Given the description of an element on the screen output the (x, y) to click on. 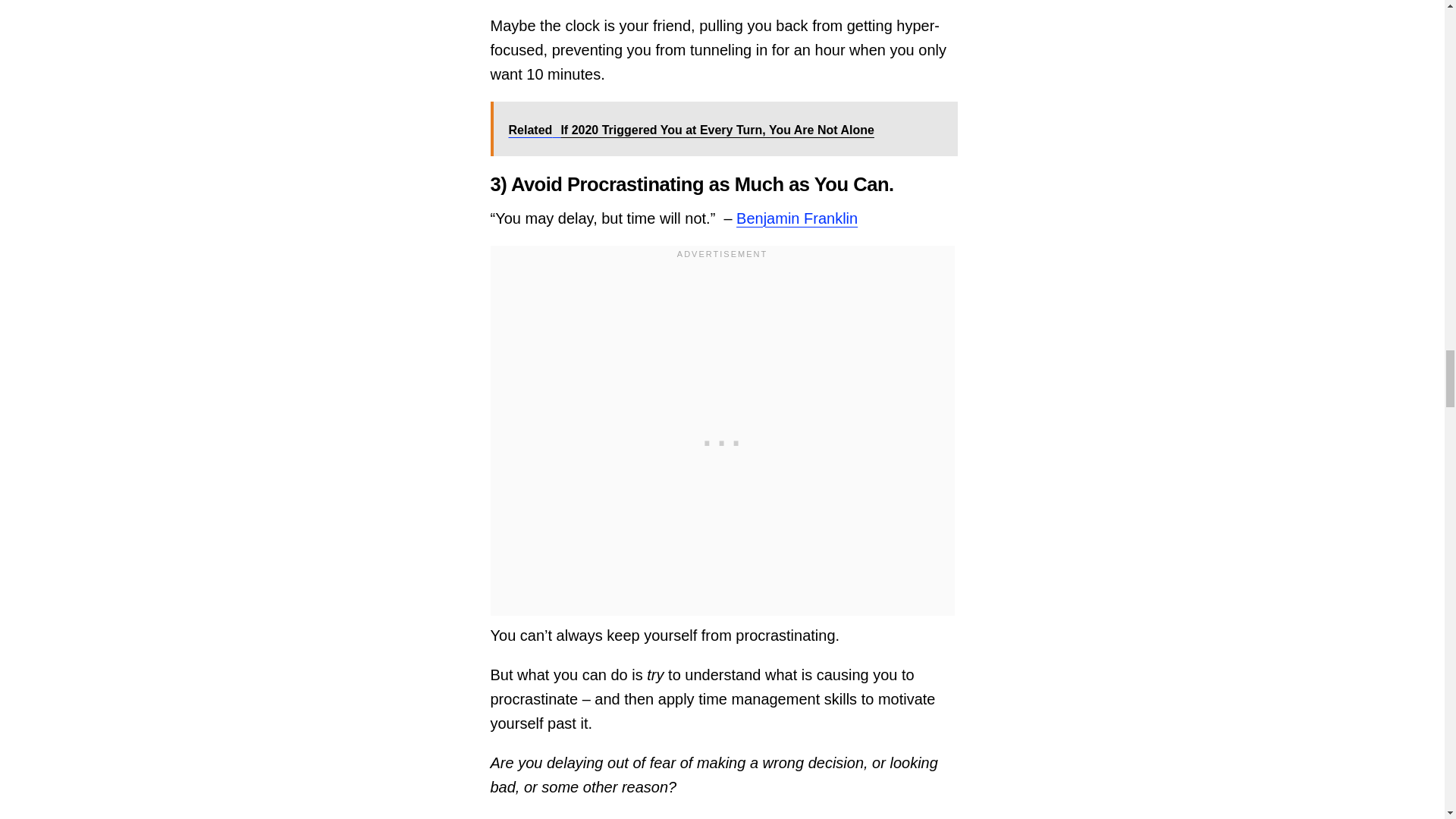
Benjamin Franklin (796, 217)
Benjamin Franklin (796, 217)
